Given the description of an element on the screen output the (x, y) to click on. 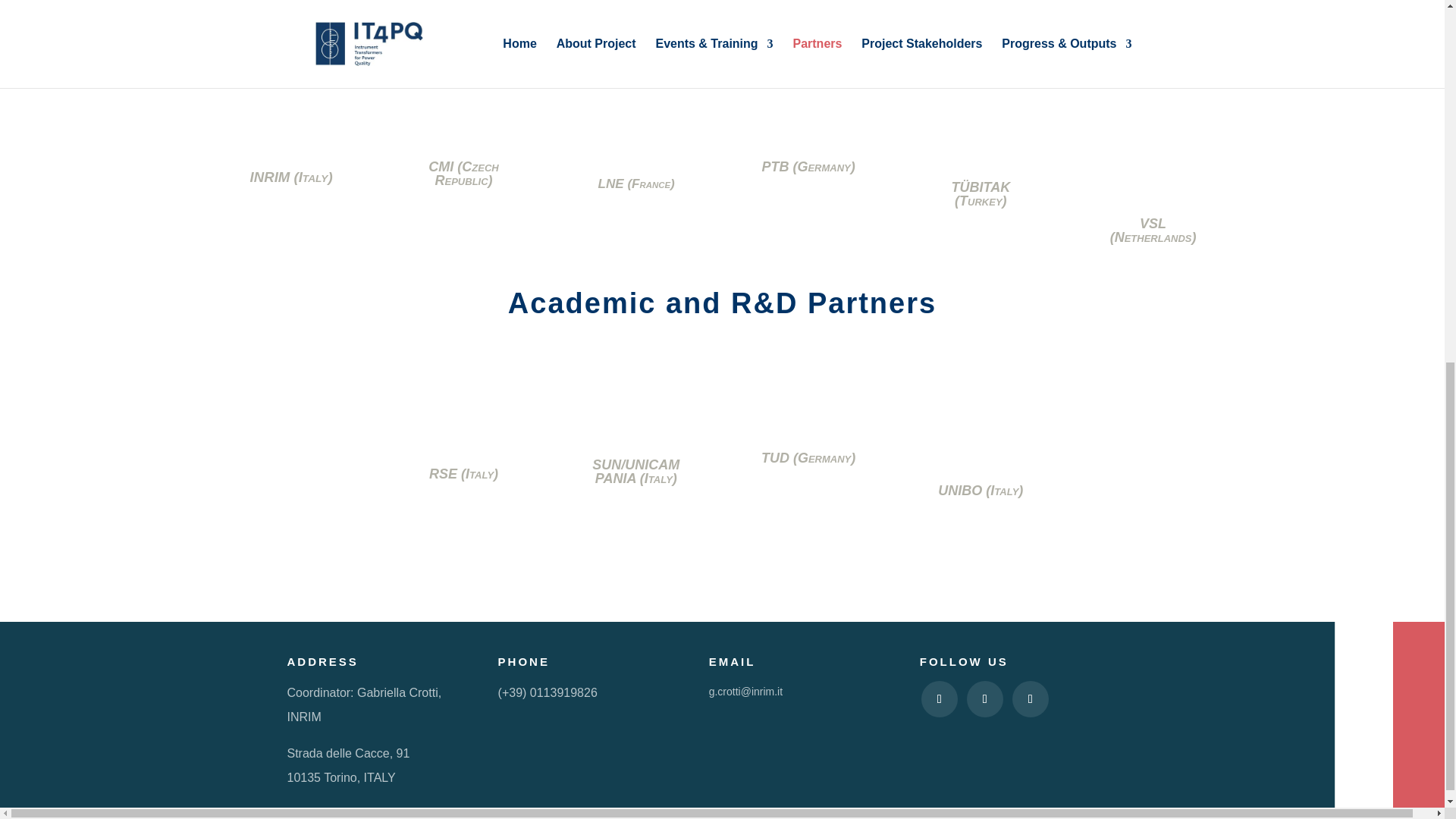
Segui su Twitter (984, 698)
Segui su LinkedIn (1029, 698)
Segui su Youtube (939, 698)
